Given the description of an element on the screen output the (x, y) to click on. 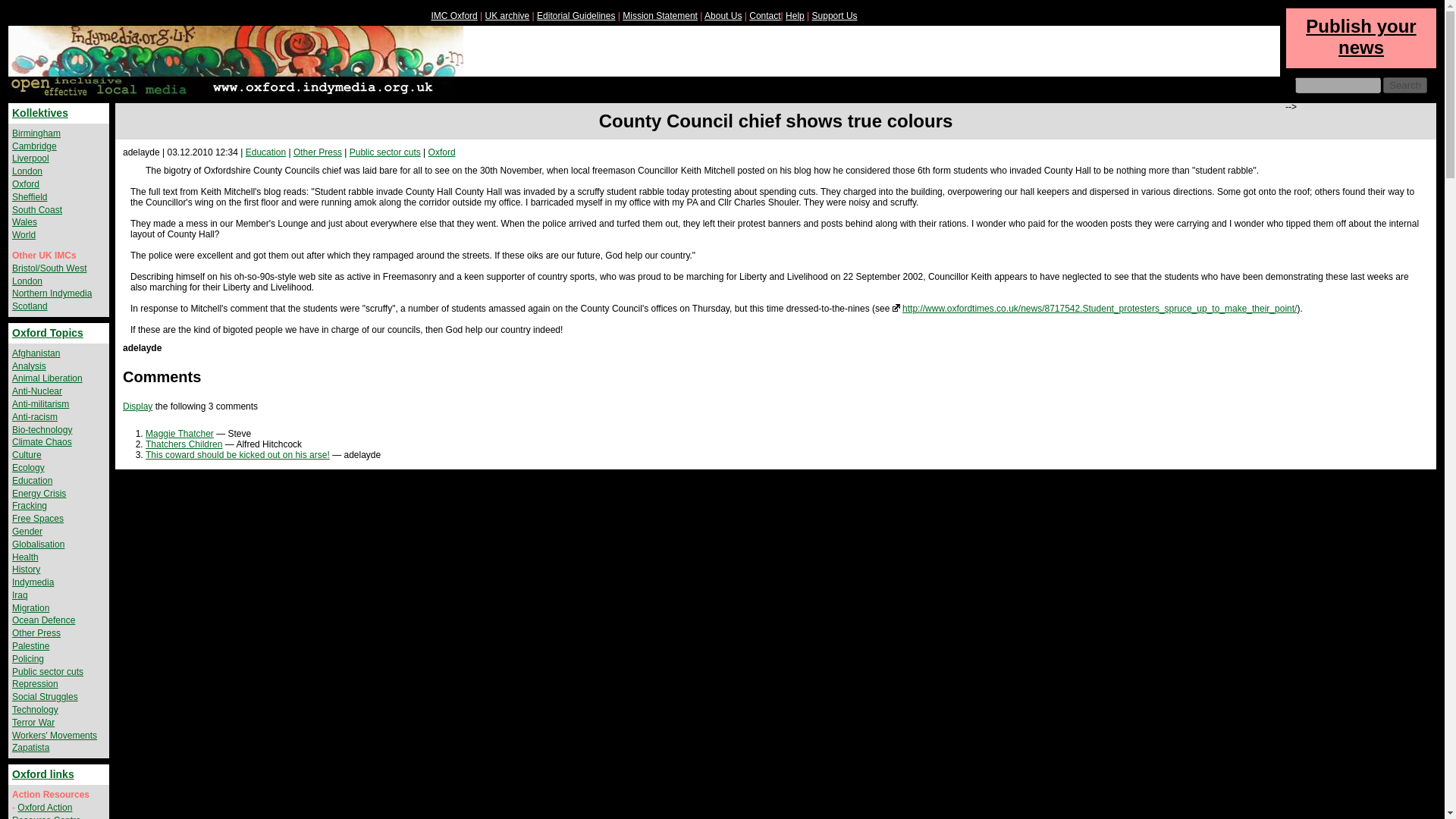
Liverpool (30, 158)
London (26, 171)
Thatchers Children (183, 443)
Other Press (318, 152)
Comments (161, 376)
Support Us (834, 15)
Mission Statement (660, 15)
Reports on resistance to public sector cuts. (384, 152)
Links to interesting articles in other press (318, 152)
